Given the description of an element on the screen output the (x, y) to click on. 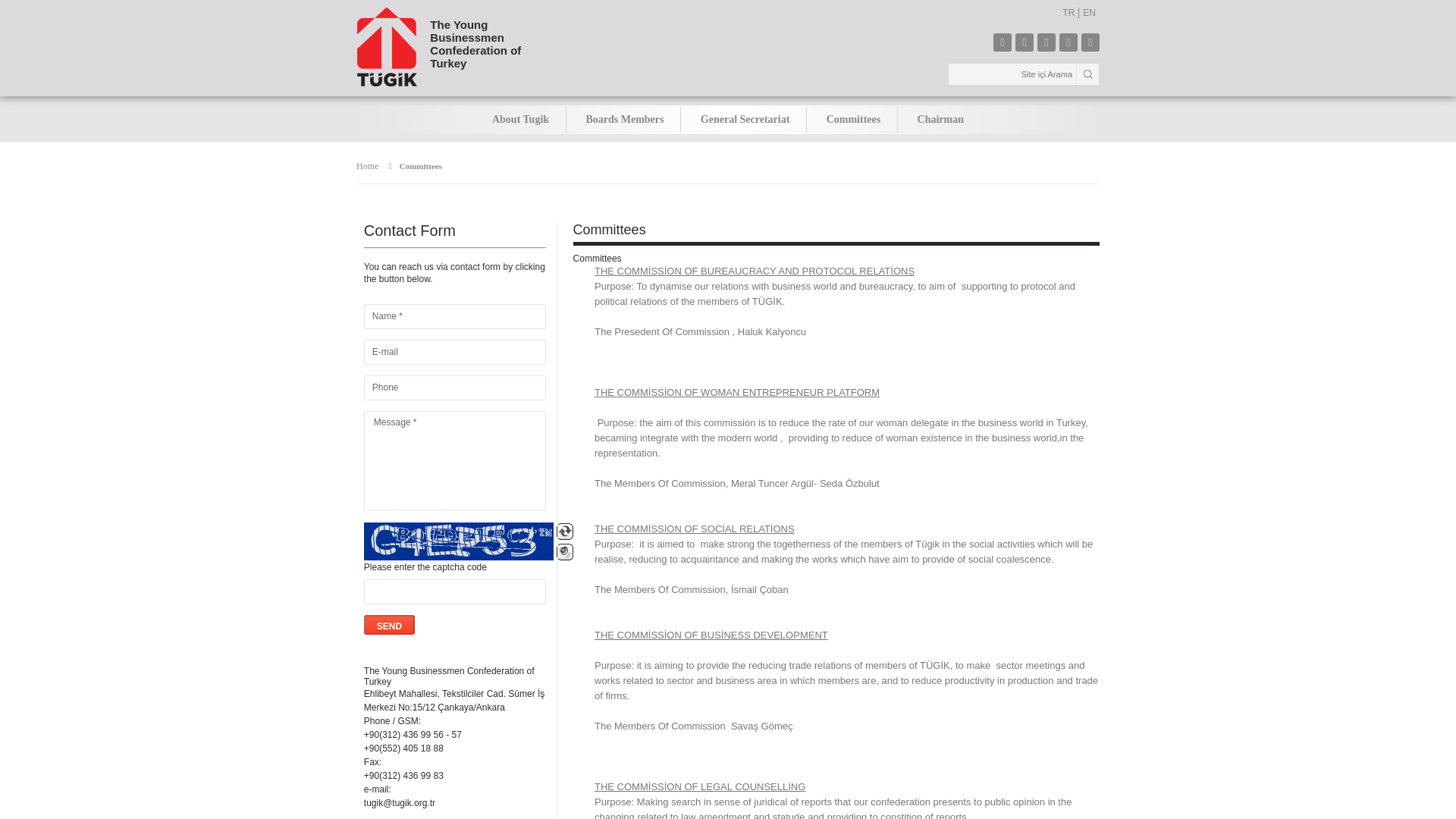
Speak the CAPTCHA code (564, 551)
About Tugik (521, 119)
E-mail (462, 351)
Change the CAPTCHA code (564, 531)
Home (367, 165)
Chairman (940, 119)
General Secretariat (745, 119)
Send (389, 624)
TR (1068, 12)
Committees (438, 47)
Committees (853, 119)
Phone (411, 165)
Boards Members (462, 387)
Send (624, 119)
